Given the description of an element on the screen output the (x, y) to click on. 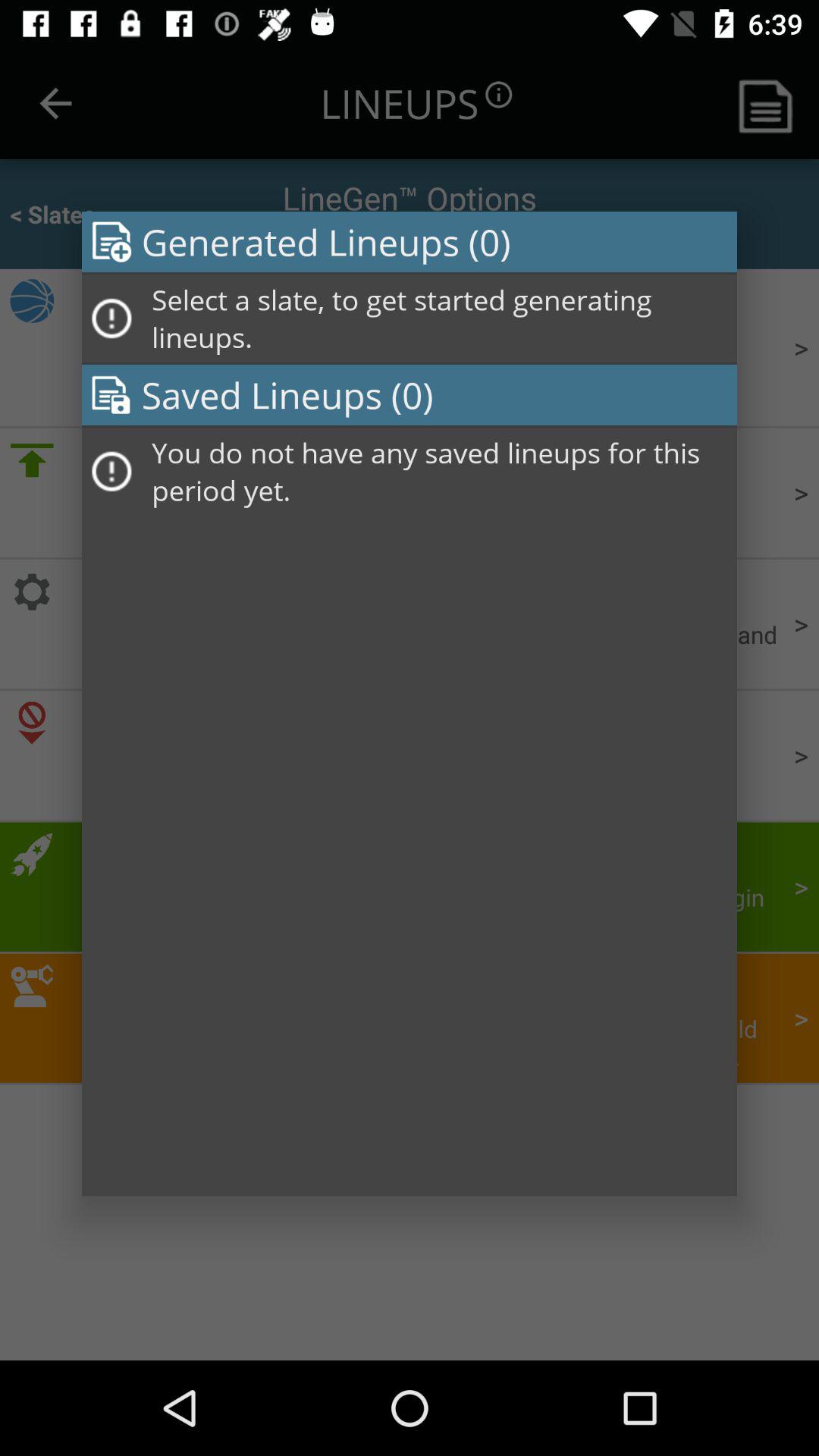
swipe to select a slate item (438, 318)
